Given the description of an element on the screen output the (x, y) to click on. 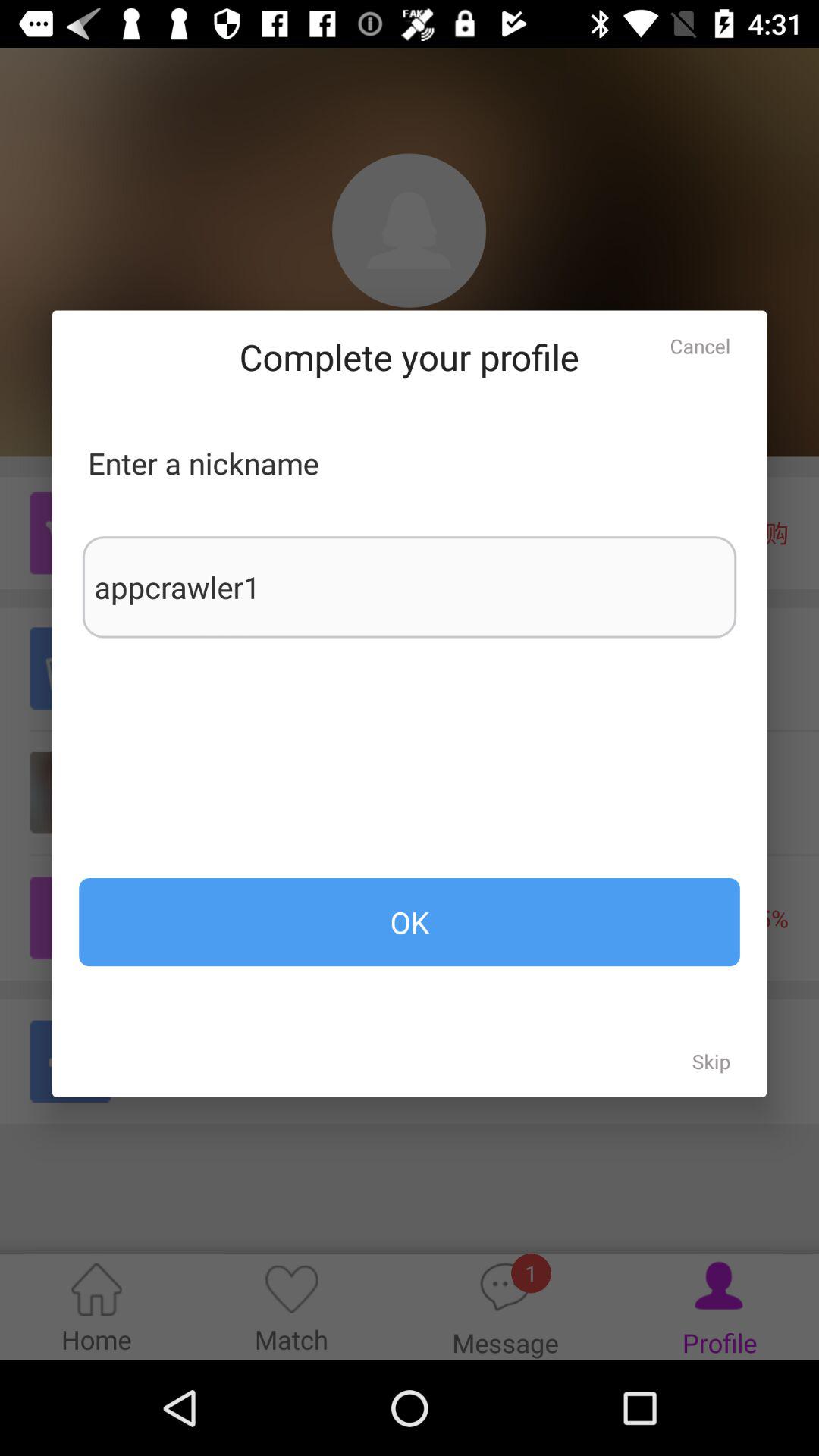
press the item to the right of complete your profile (700, 345)
